Given the description of an element on the screen output the (x, y) to click on. 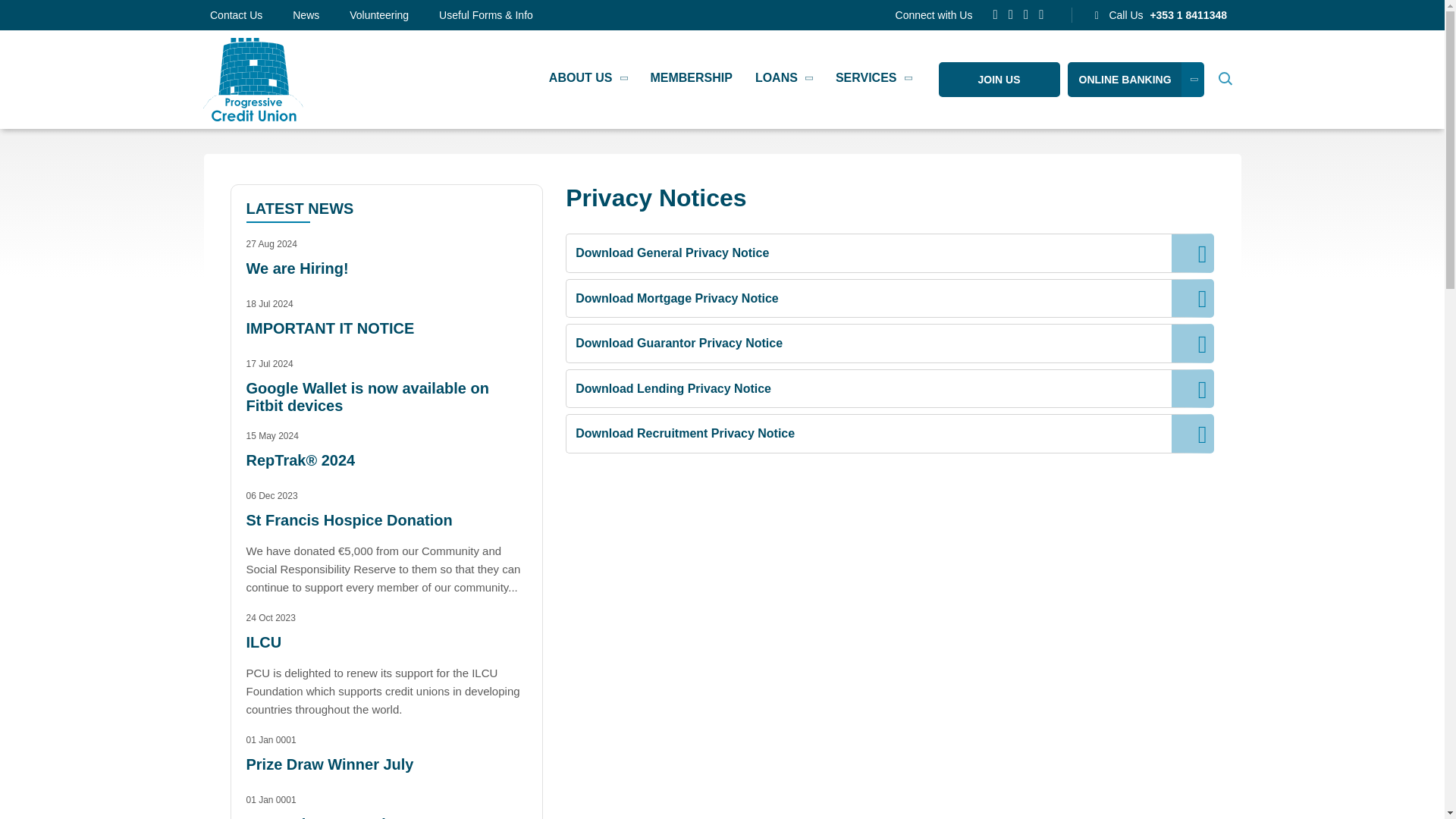
Contact Us (250, 15)
Volunteering (394, 15)
MEMBERSHIP (690, 75)
News (320, 15)
